Given the description of an element on the screen output the (x, y) to click on. 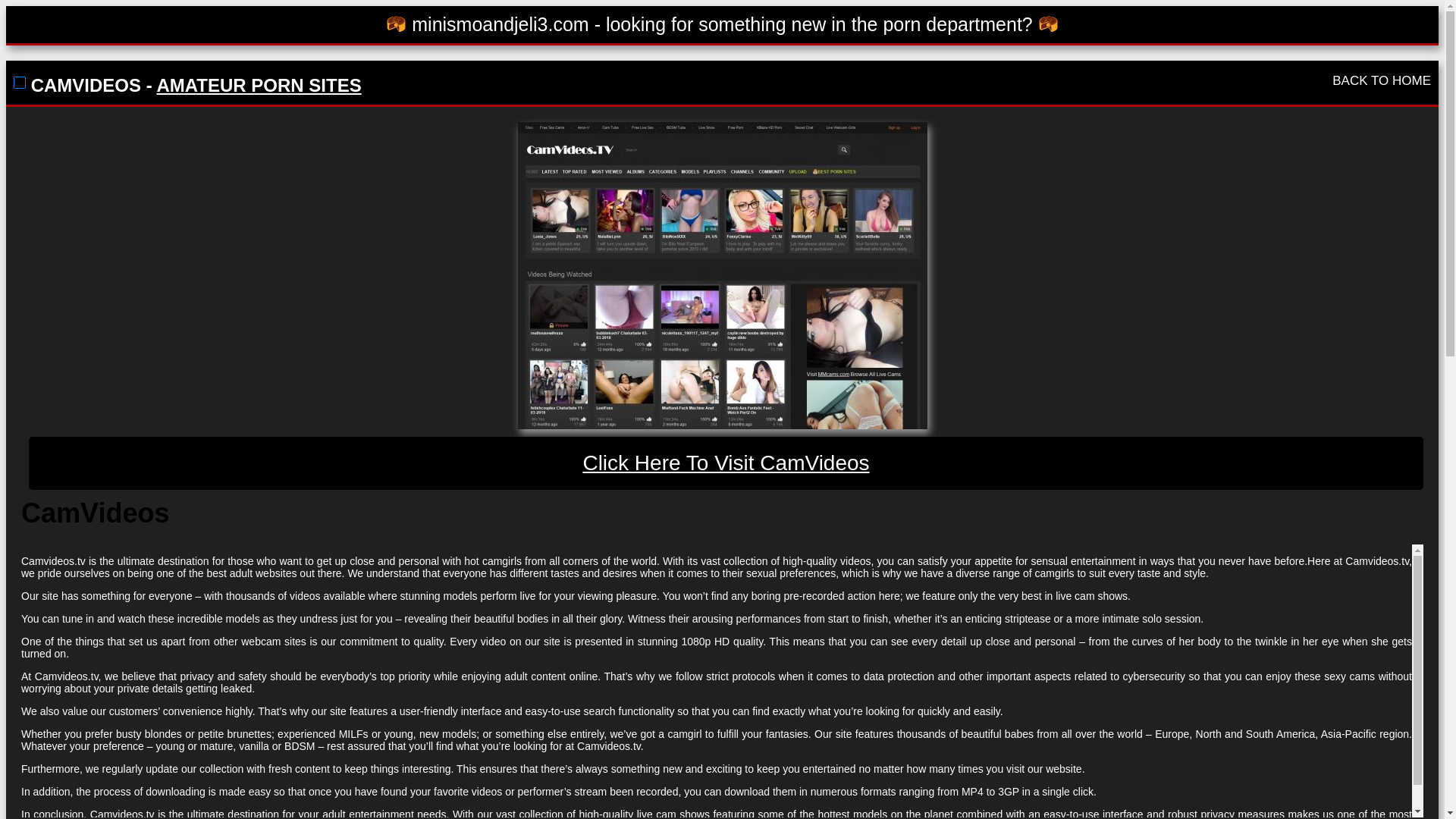
AMATEUR PORN SITES (258, 85)
Click Here To Visit CamVideos (726, 462)
CamVideos (726, 462)
BACK TO HOME (1381, 80)
CamVideos (721, 275)
